Given the description of an element on the screen output the (x, y) to click on. 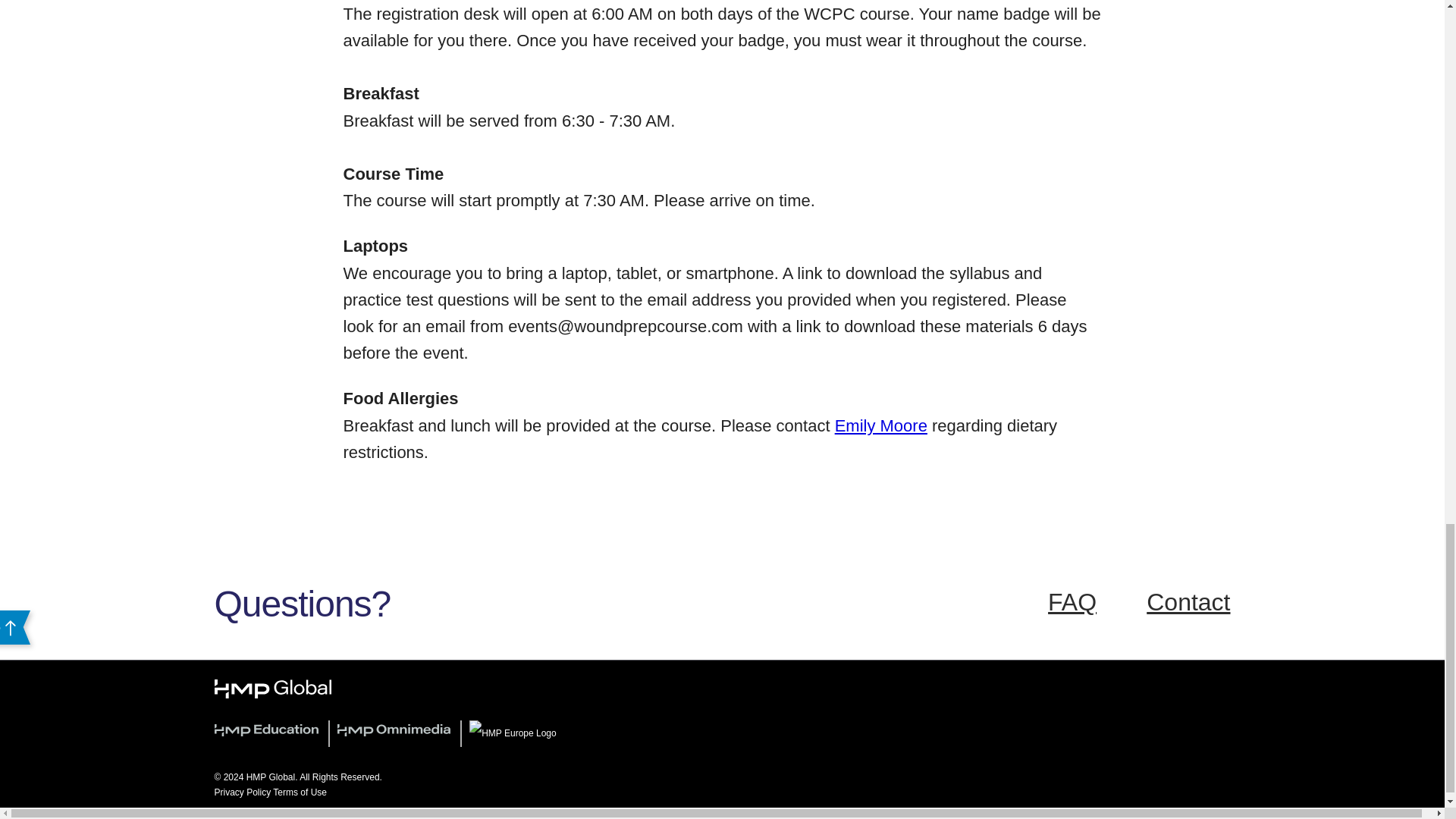
Emily Moore (880, 425)
FAQ (1072, 601)
Privacy Policy (242, 792)
Terms of Use (299, 792)
Contact (1188, 601)
